Given the description of an element on the screen output the (x, y) to click on. 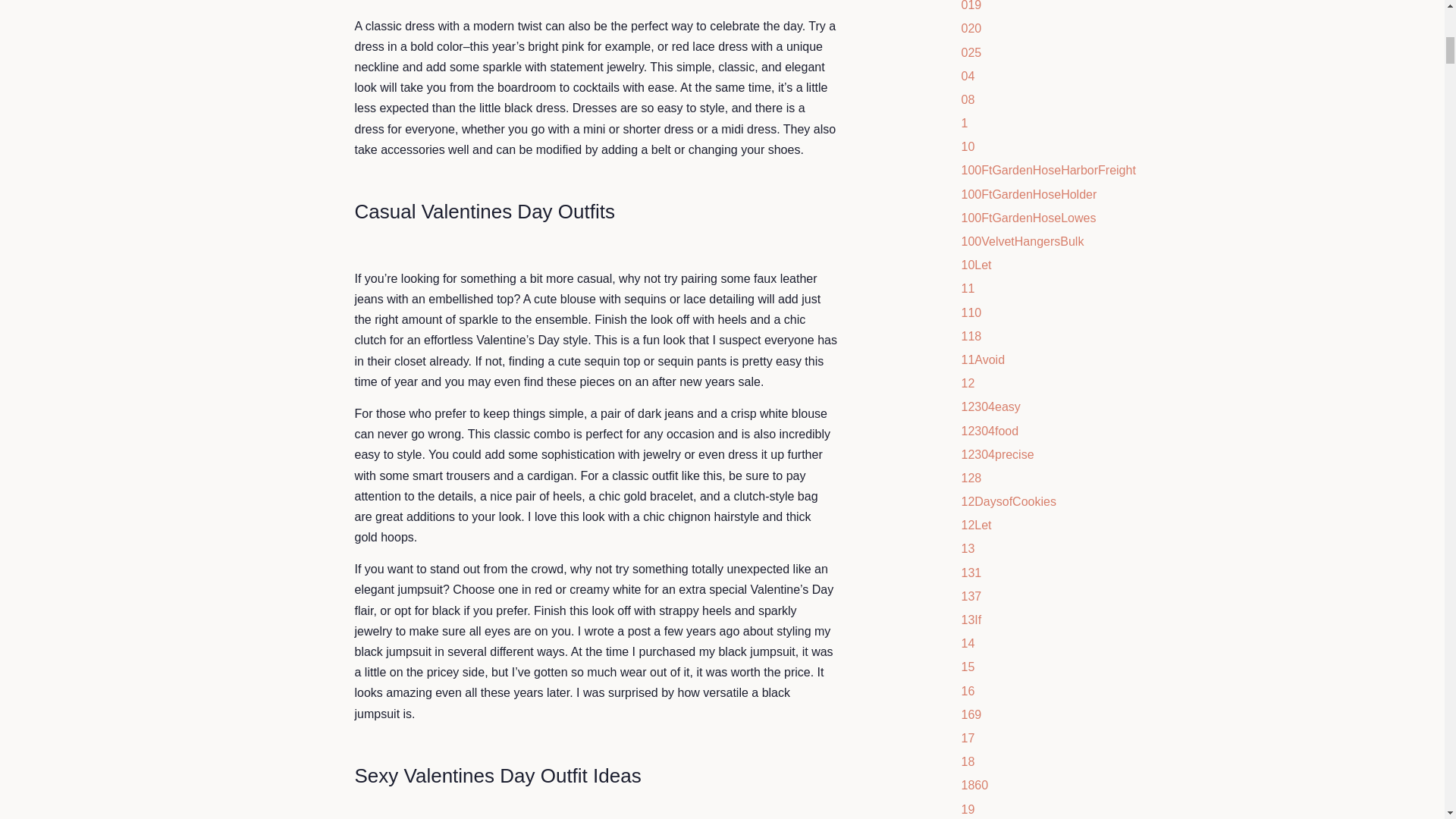
Show articles tagged 12 (967, 382)
Show articles tagged 020 (970, 28)
Show articles tagged 11 (967, 287)
Show articles tagged 1 (964, 123)
Show articles tagged 025 (970, 51)
Show articles tagged 110 (970, 312)
Show articles tagged 11Avoid (983, 359)
Show articles tagged 04 (967, 75)
Show articles tagged 10 (967, 146)
Show articles tagged 100VelvetHangersBulk (1022, 241)
Show articles tagged 118 (970, 336)
019 (970, 5)
Show articles tagged 100FtGardenHoseHolder (1028, 194)
025 (970, 51)
020 (970, 28)
